Given the description of an element on the screen output the (x, y) to click on. 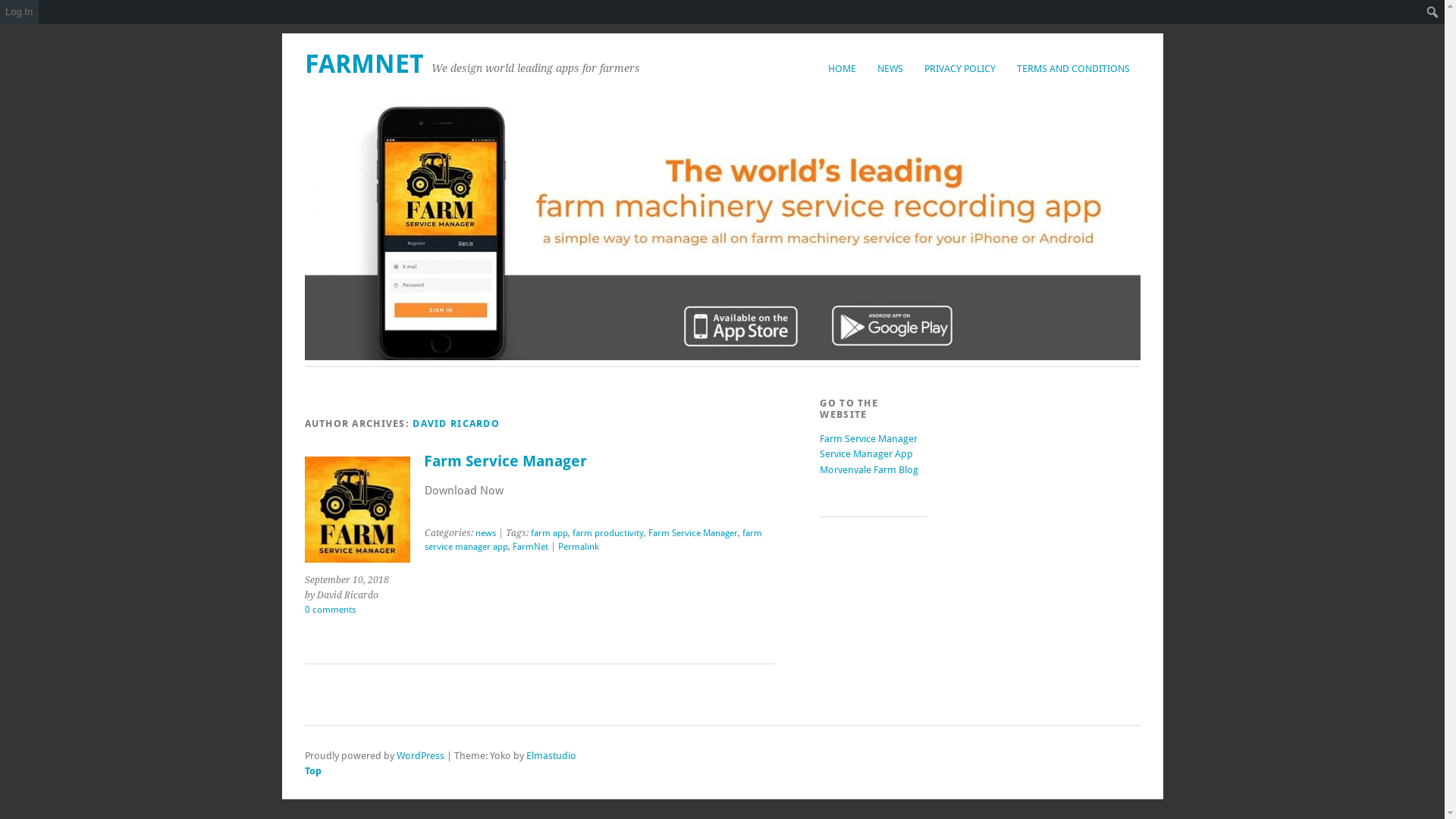
Elmastudio Element type: text (551, 755)
FARMNET Element type: text (363, 63)
HOME Element type: text (841, 68)
WordPress Element type: text (419, 755)
Farm Service Manager Element type: text (504, 461)
Permalink Element type: text (578, 541)
news Element type: text (485, 527)
Farm Service Manager Element type: text (868, 438)
Morvenvale Farm Blog Element type: text (868, 469)
Log In Element type: text (19, 12)
DAVID RICARDO Element type: text (455, 423)
farm app Element type: text (548, 527)
Farm Service Manager Element type: text (692, 527)
Search Element type: text (17, 13)
FarmNet Element type: text (530, 541)
Service Manager App Element type: text (866, 453)
Top Element type: text (596, 770)
PRIVACY POLICY Element type: text (959, 68)
farm service manager app Element type: text (593, 534)
NEWS Element type: text (889, 68)
0 comments Element type: text (329, 609)
TERMS AND CONDITIONS Element type: text (1072, 68)
farm productivity Element type: text (607, 527)
